Given the description of an element on the screen output the (x, y) to click on. 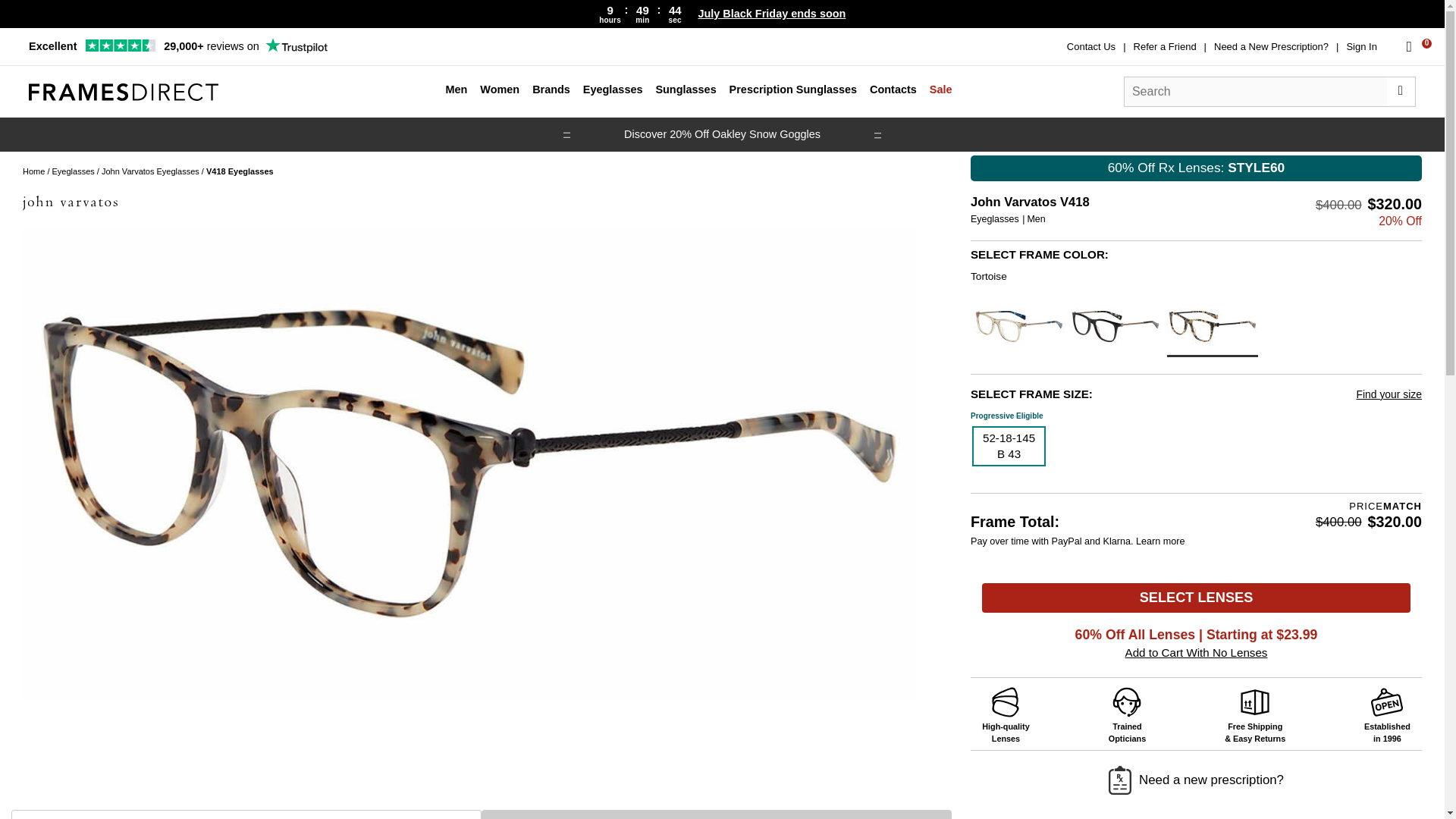
Contact Us (1091, 46)
Need a New Prescription? (1270, 46)
Find an eyecare professional to get a new prescription (1270, 46)
Refer a Friend (1165, 46)
July Black Friday ends soon (771, 13)
0 (1409, 46)
Sign In (1360, 46)
